Given the description of an element on the screen output the (x, y) to click on. 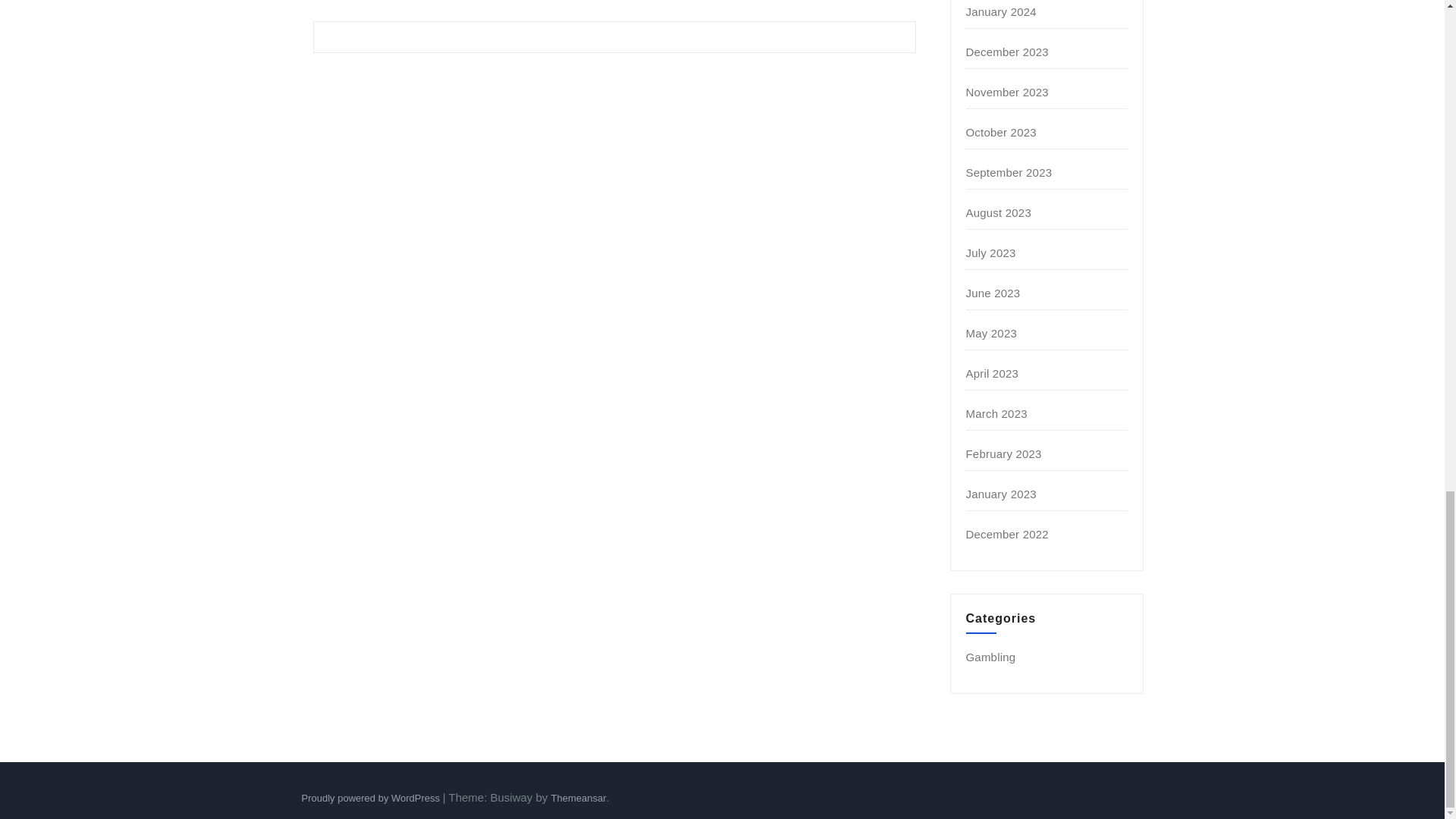
August 2023 (998, 212)
December 2023 (1007, 51)
January 2024 (1001, 11)
October 2023 (1001, 132)
May 2023 (991, 332)
November 2023 (1007, 91)
July 2023 (991, 252)
September 2023 (1009, 172)
June 2023 (993, 292)
